Given the description of an element on the screen output the (x, y) to click on. 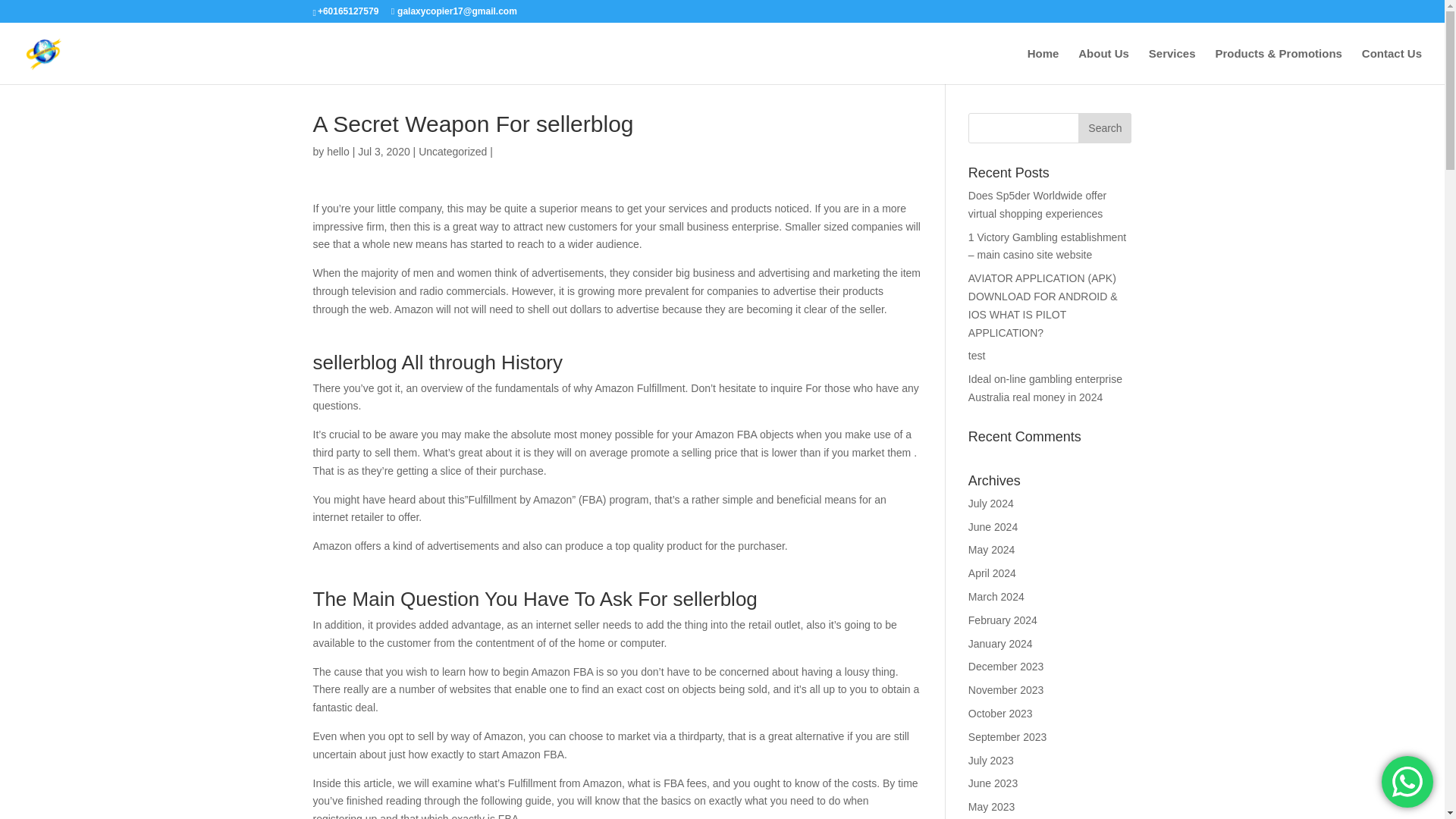
About Us (1103, 66)
Does Sp5der Worldwide offer virtual shopping experiences (1037, 204)
March 2024 (996, 596)
Posts by hello (337, 151)
Uncategorized (452, 151)
November 2023 (1005, 689)
September 2023 (1007, 736)
July 2024 (990, 503)
January 2024 (1000, 644)
July 2023 (990, 760)
June 2024 (992, 526)
February 2024 (1002, 620)
October 2023 (1000, 713)
April 2024 (992, 573)
